Given the description of an element on the screen output the (x, y) to click on. 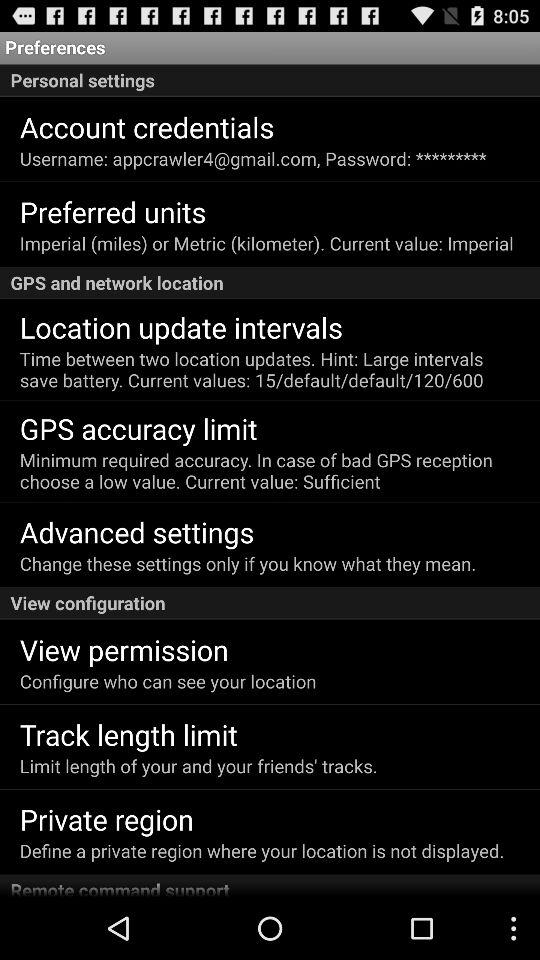
select change these settings item (247, 563)
